Given the description of an element on the screen output the (x, y) to click on. 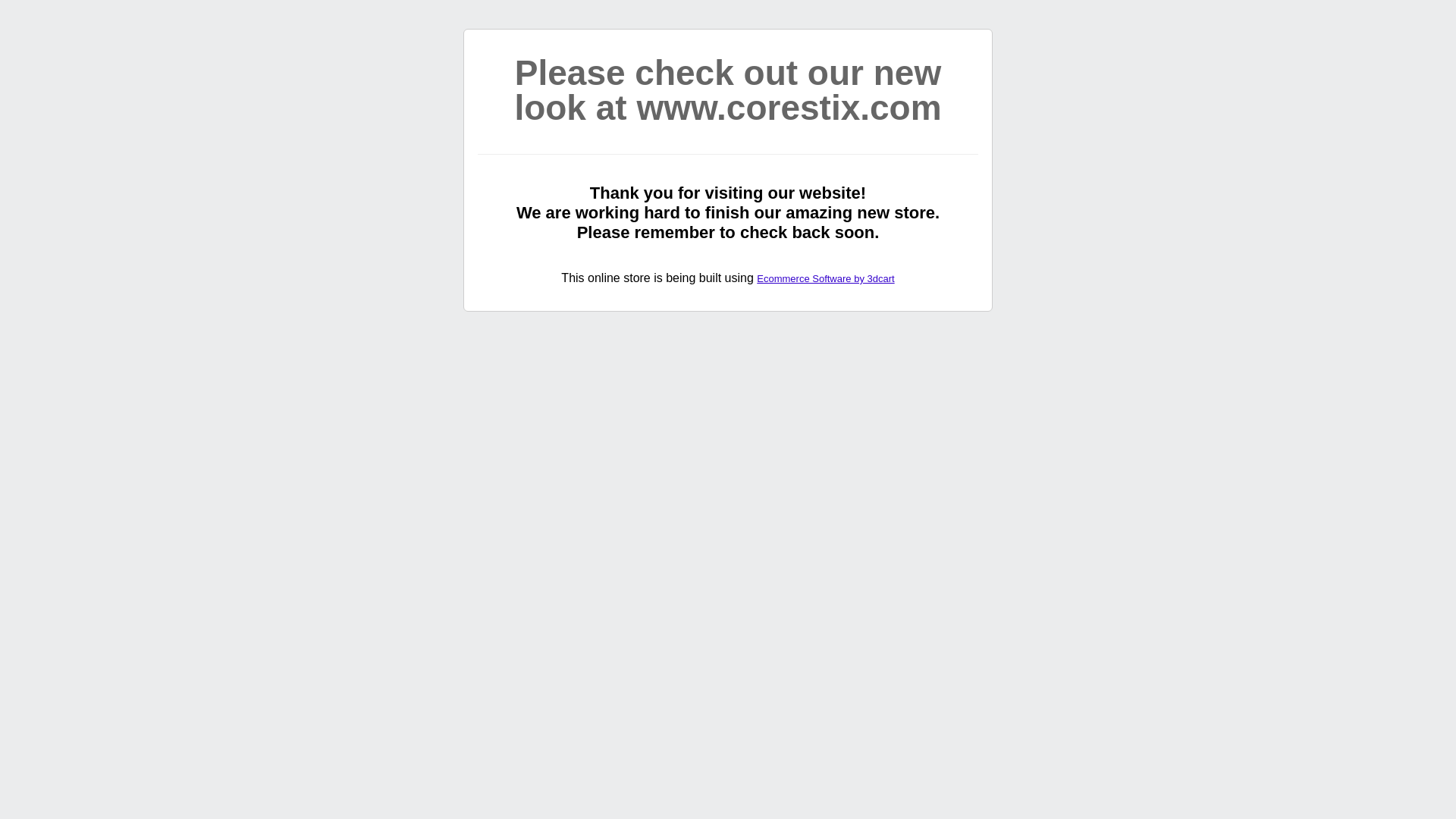
Ecommerce Software by 3dcart Element type: text (825, 278)
